Given the description of an element on the screen output the (x, y) to click on. 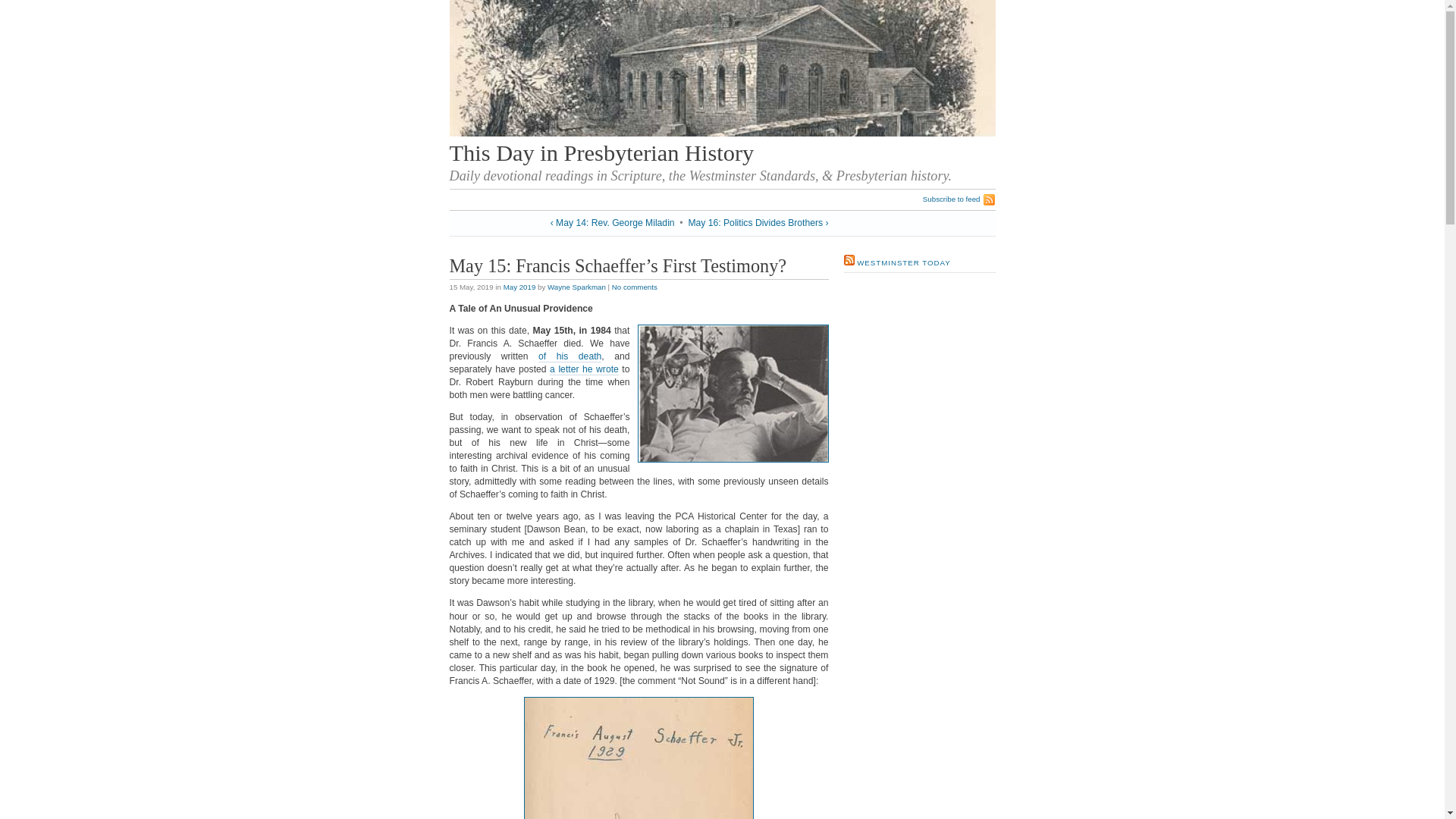
Return to main page (721, 132)
of his death (569, 356)
WESTMINSTER TODAY (903, 262)
Return to main page (601, 153)
Articles by Wayne Sparkman (576, 286)
May 2019 (519, 286)
a letter he wrote (584, 369)
This Day in Presbyterian History (601, 153)
No comments (634, 286)
Wayne Sparkman (576, 286)
